Given the description of an element on the screen output the (x, y) to click on. 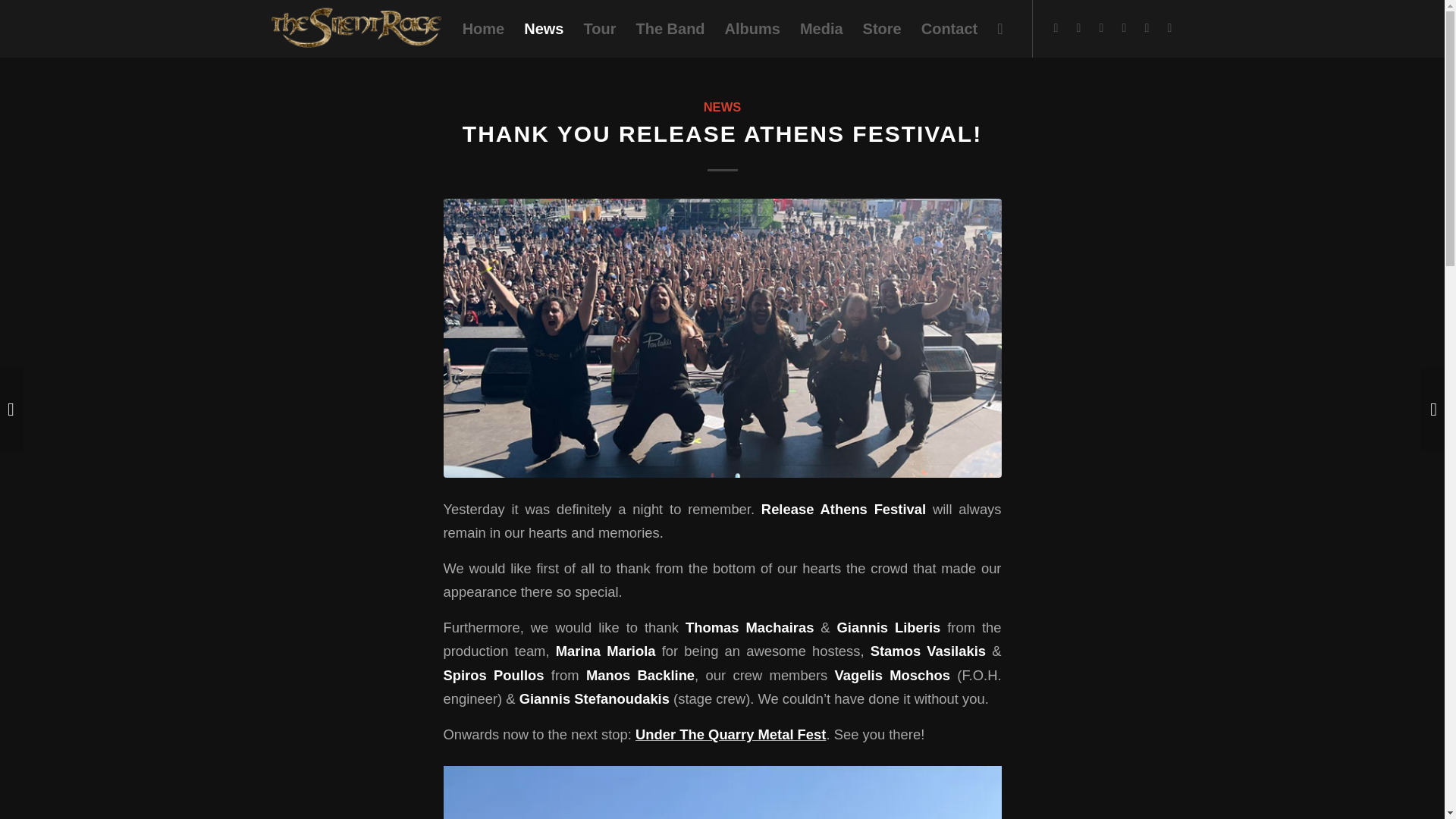
Home (483, 28)
Media (821, 28)
Bandsintown (1169, 27)
Spotify (1146, 27)
News (543, 28)
Instagram (1101, 27)
Contact (949, 28)
NEWS (722, 106)
Twitter (1078, 27)
